Given the description of an element on the screen output the (x, y) to click on. 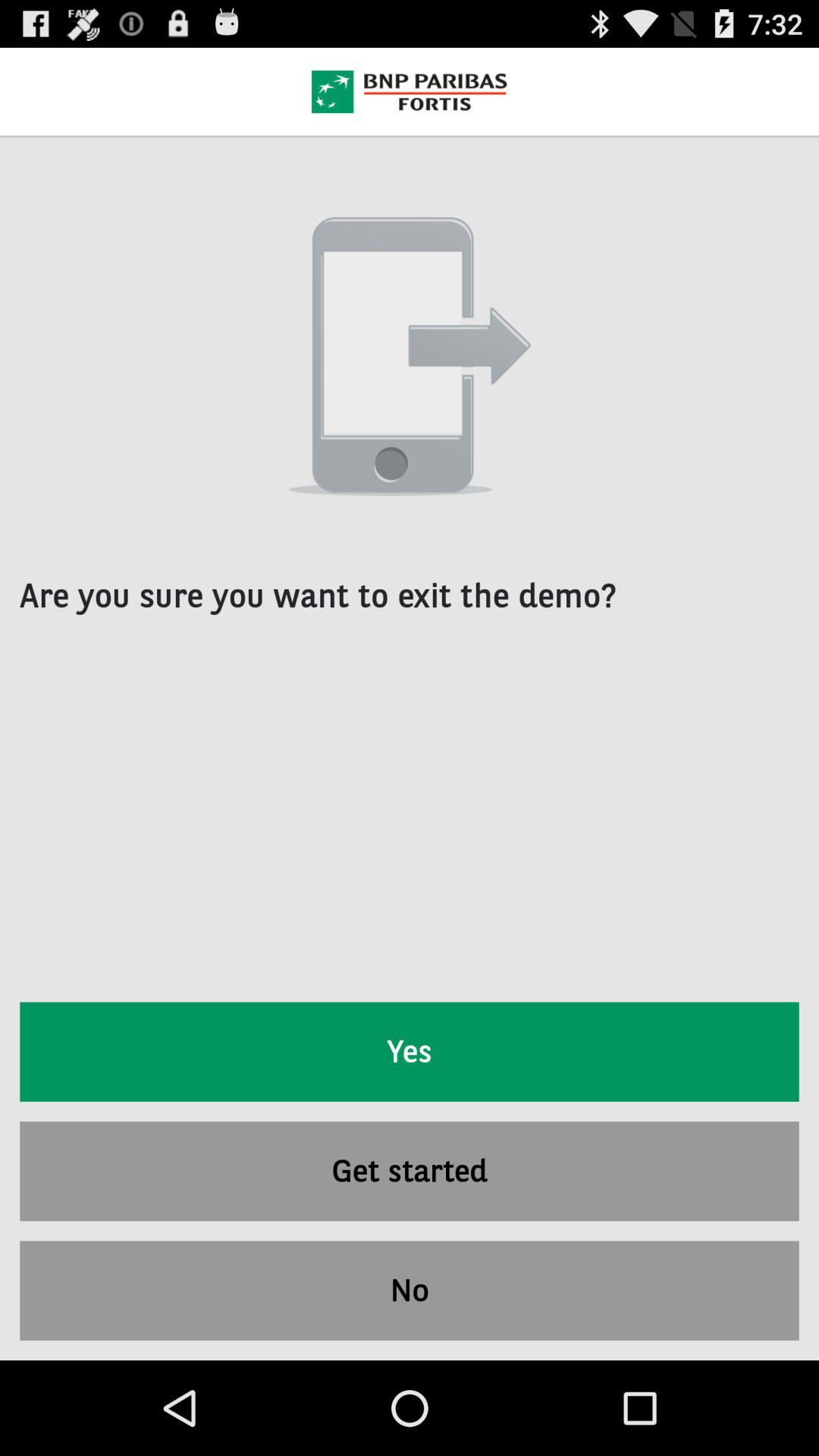
turn off the item below the get started item (409, 1290)
